Given the description of an element on the screen output the (x, y) to click on. 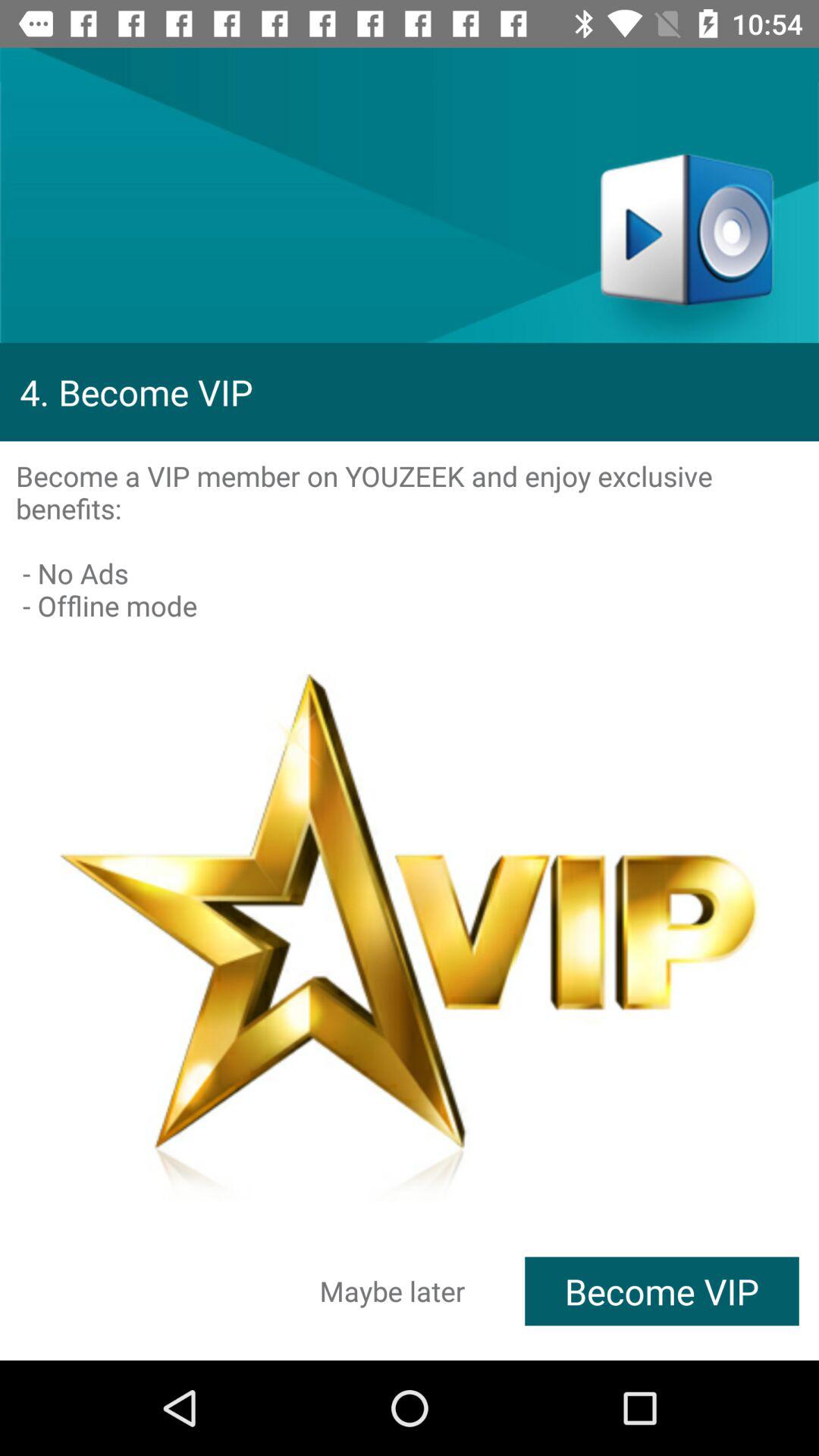
open the icon to the left of the become vip (392, 1291)
